Given the description of an element on the screen output the (x, y) to click on. 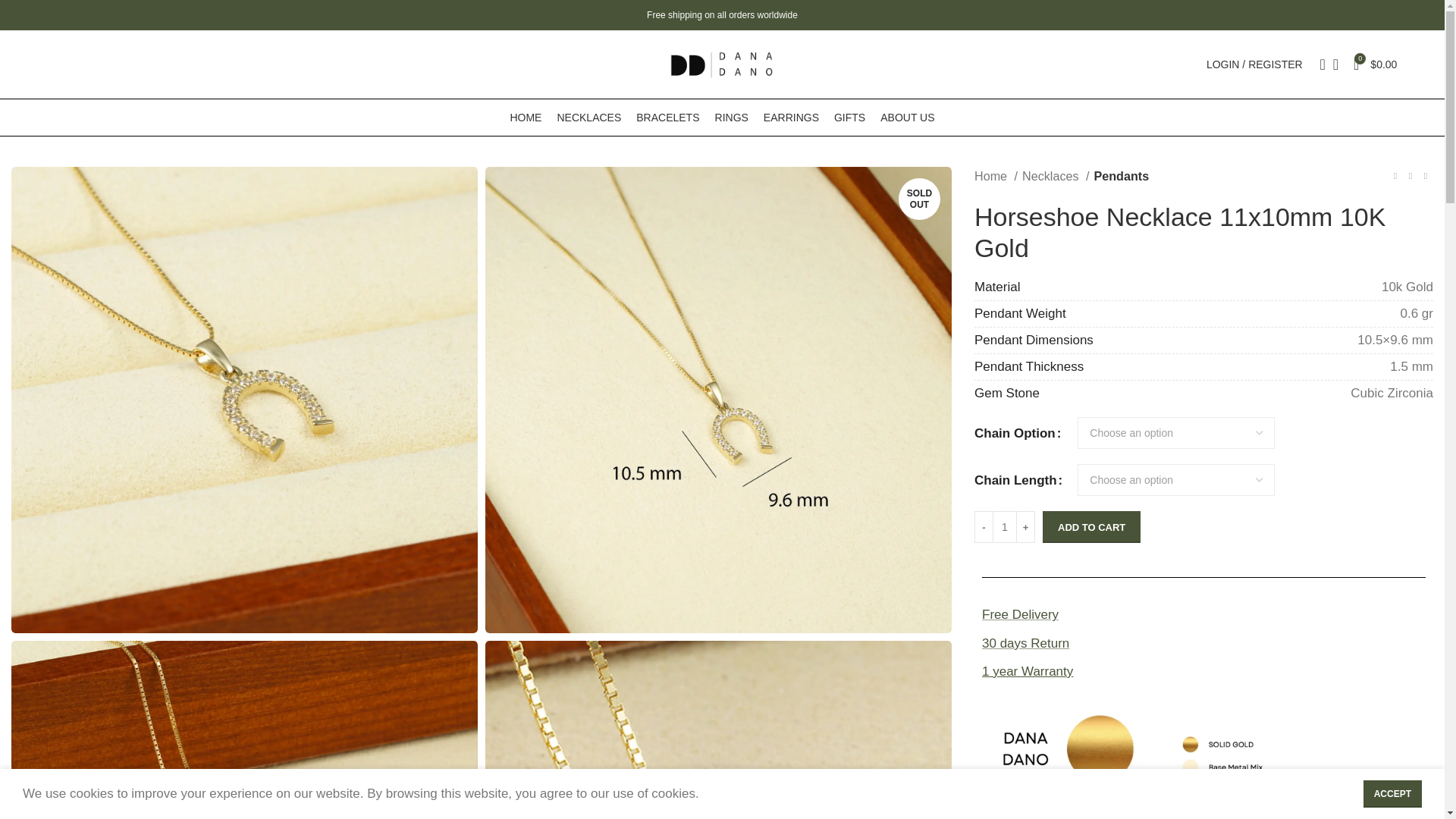
EARRINGS (790, 117)
Shopping cart (1375, 64)
HOME (525, 117)
Home (995, 176)
Pendants (1120, 176)
Free Delivery (1203, 614)
My account (1254, 64)
ADD TO CART (1091, 526)
RINGS (731, 117)
ABOUT US (907, 117)
Horseshoe Necklace 11x10mm 10K Gold 5 (718, 729)
NECKLACES (588, 117)
BRACELETS (667, 117)
